Given the description of an element on the screen output the (x, y) to click on. 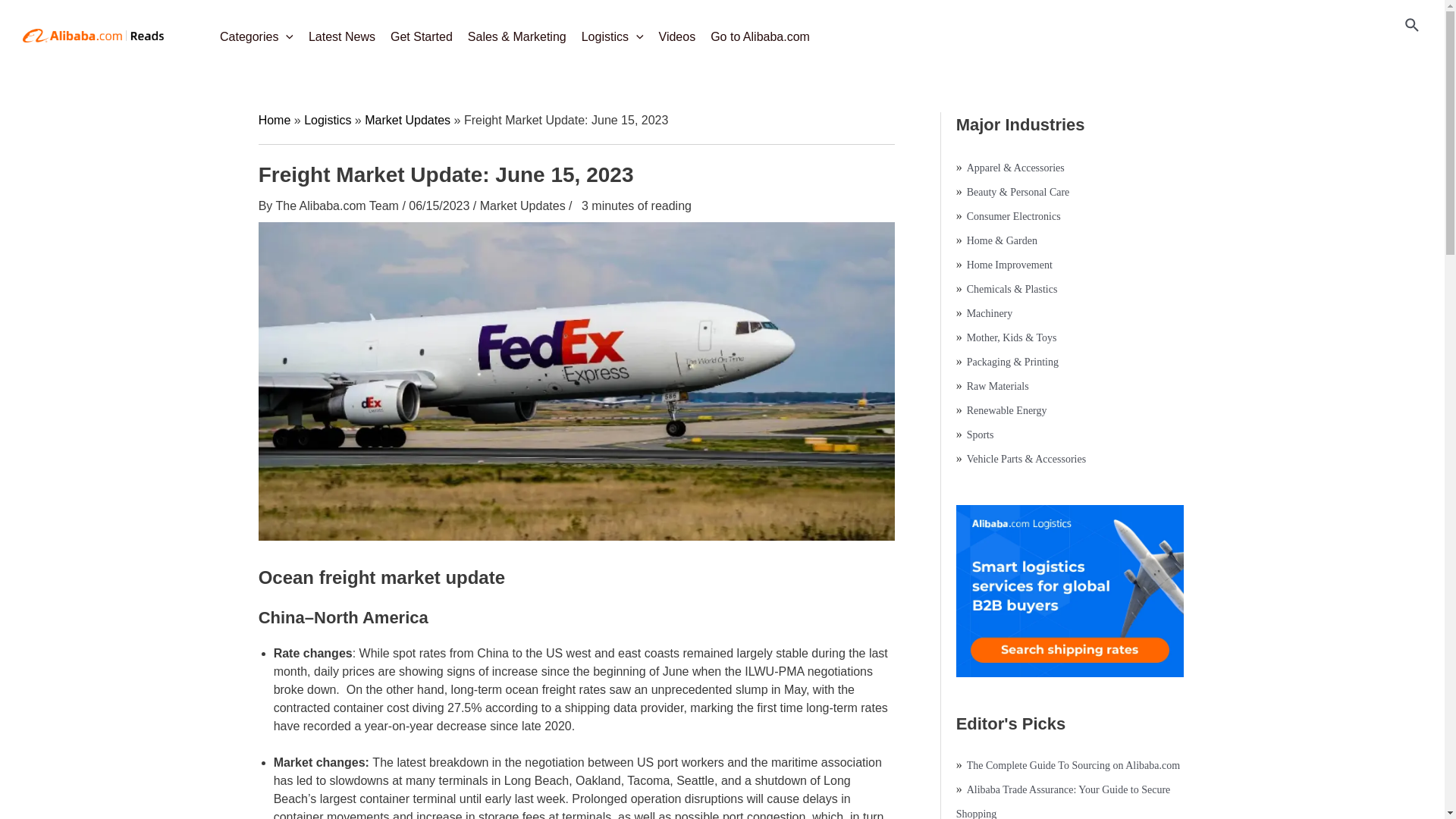
Categories (256, 31)
View all posts by The Alibaba.com Team (338, 205)
Logistics (611, 31)
Get Started (421, 31)
Latest News (341, 31)
Go to Alibaba.com (759, 31)
